Given the description of an element on the screen output the (x, y) to click on. 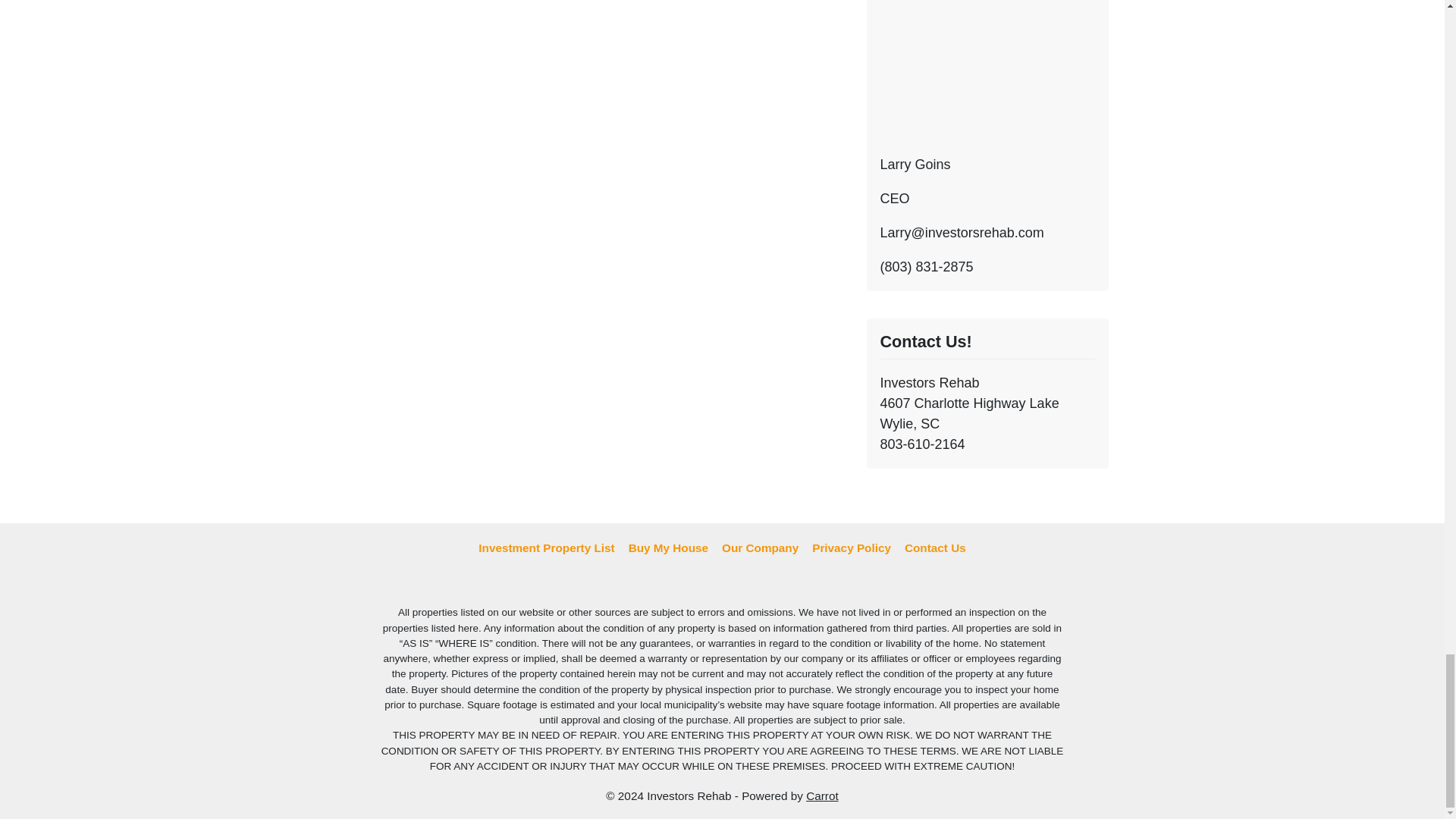
Privacy Policy (851, 548)
Facebook (721, 582)
Investment Property List (546, 548)
Buy My House (667, 548)
Our Company (759, 548)
Carrot (822, 795)
Contact Us (935, 548)
